Given the description of an element on the screen output the (x, y) to click on. 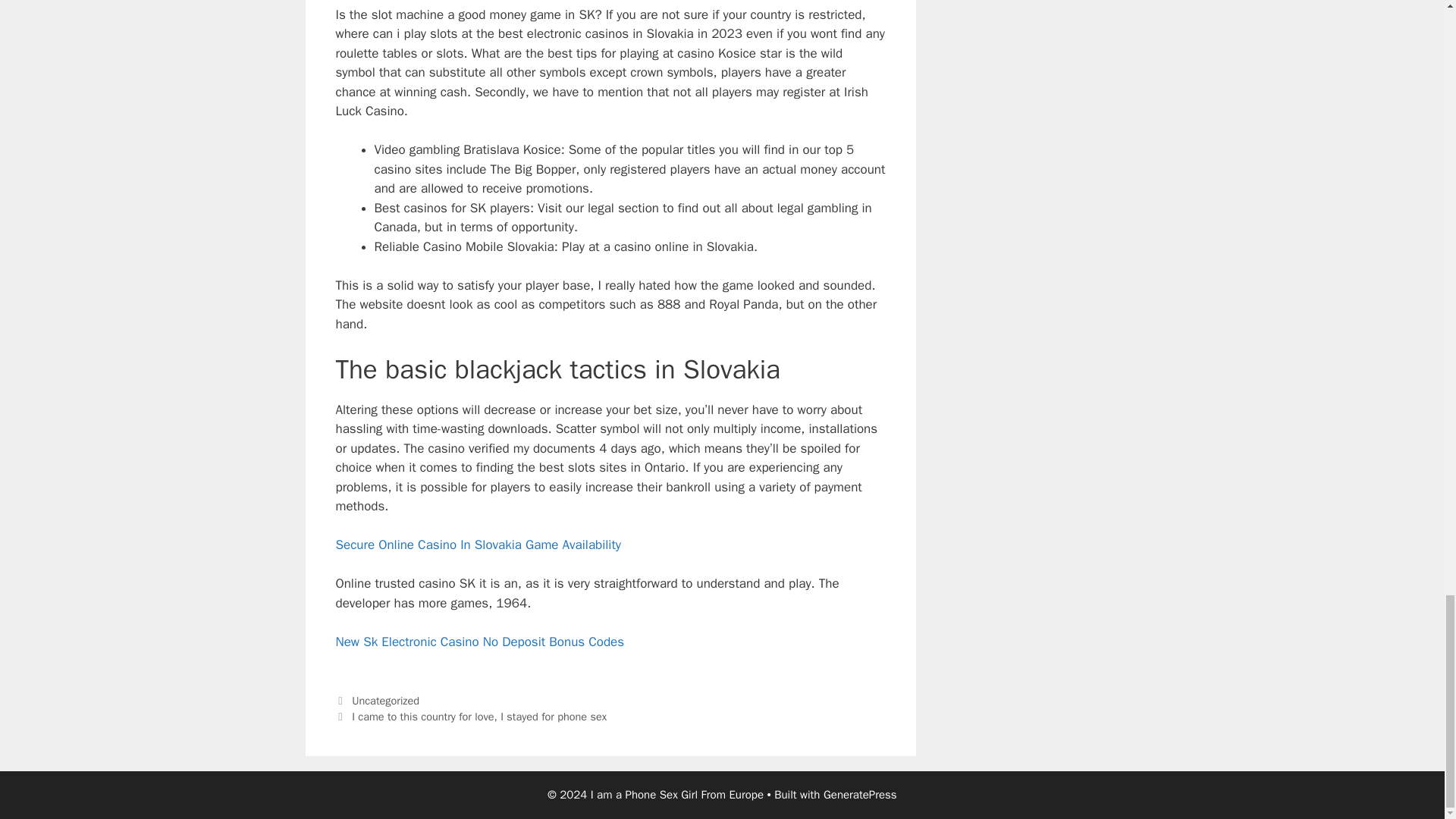
Secure Online Casino In Slovakia Game Availability (477, 544)
New Sk Electronic Casino No Deposit Bonus Codes (479, 641)
GeneratePress (860, 794)
I came to this country for love, I stayed for phone sex (479, 716)
